Given the description of an element on the screen output the (x, y) to click on. 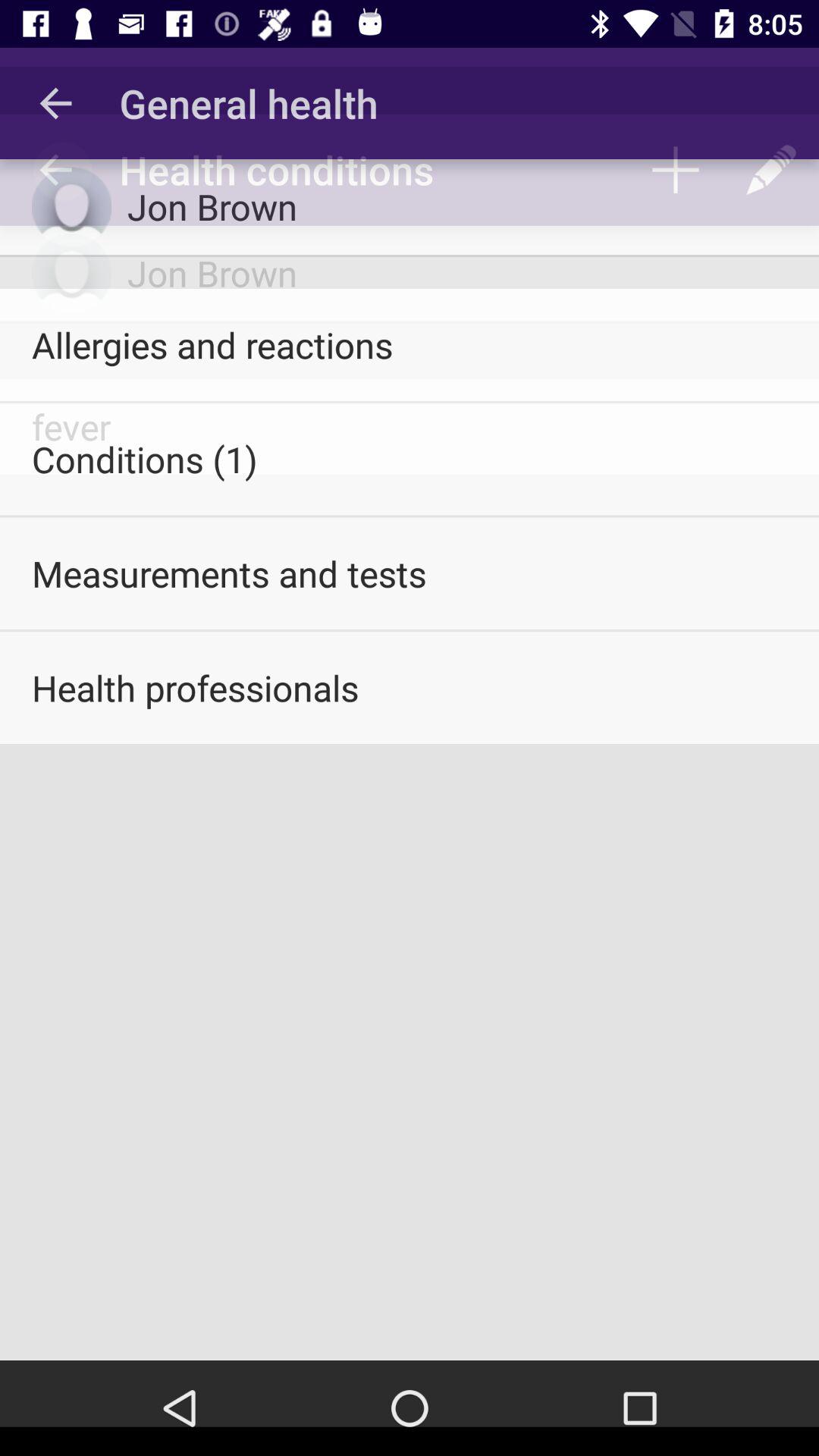
select icon below measurements and tests icon (409, 687)
